Given the description of an element on the screen output the (x, y) to click on. 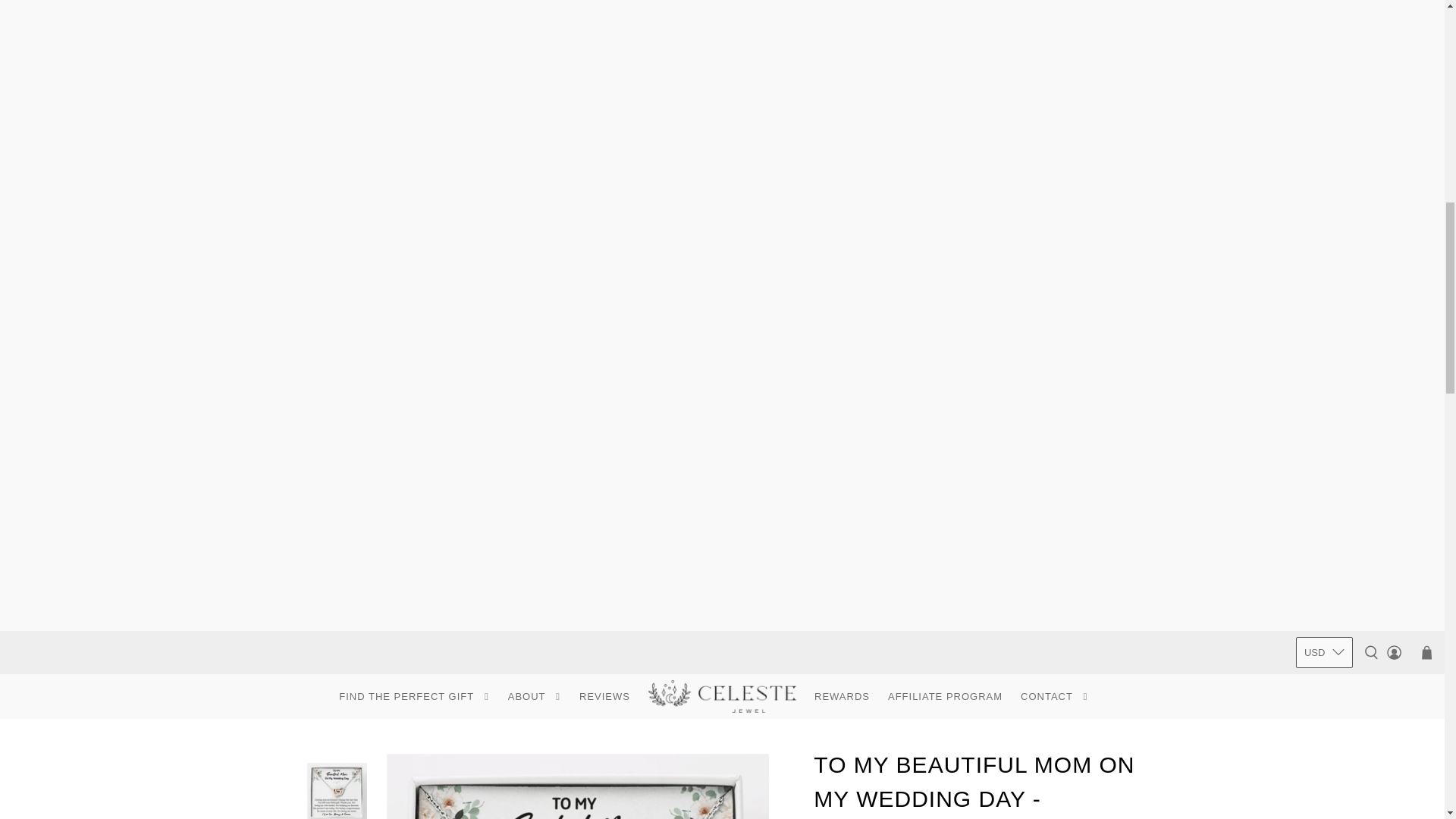
CAD (1323, 718)
EUR (1323, 806)
Celeste Jewel (721, 696)
USD (1323, 653)
GBP (1323, 748)
FIND THE PERFECT GIFT (413, 696)
AUD (1323, 779)
USD (1323, 689)
